Given the description of an element on the screen output the (x, y) to click on. 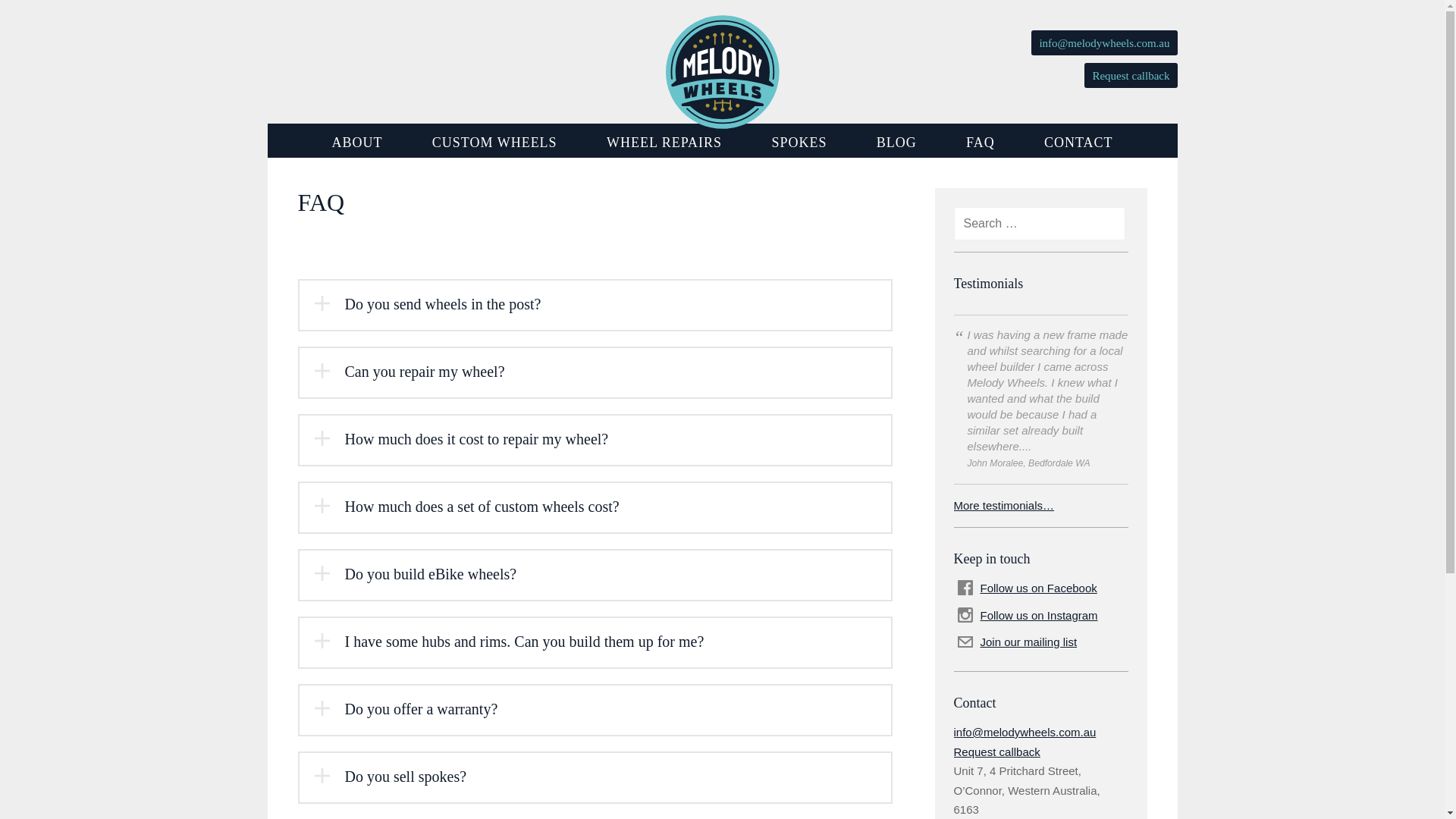
Request callback Element type: text (996, 750)
Skip to content Element type: text (334, 198)
CUSTOM WHEELS Element type: text (494, 142)
Follow us on Facebook Element type: text (1042, 588)
info@melodywheels.com.au Element type: text (1024, 731)
SPOKES Element type: text (798, 142)
ABOUT Element type: text (357, 142)
CONTACT Element type: text (1078, 142)
BLOG Element type: text (896, 142)
info@melodywheels.com.au Element type: text (1103, 42)
Search Element type: text (44, 16)
Request callback Element type: text (1130, 74)
FAQ Element type: text (980, 142)
Follow us on Instagram Element type: text (1042, 615)
Join our mailing list Element type: text (1042, 642)
WHEEL REPAIRS Element type: text (664, 142)
